Given the description of an element on the screen output the (x, y) to click on. 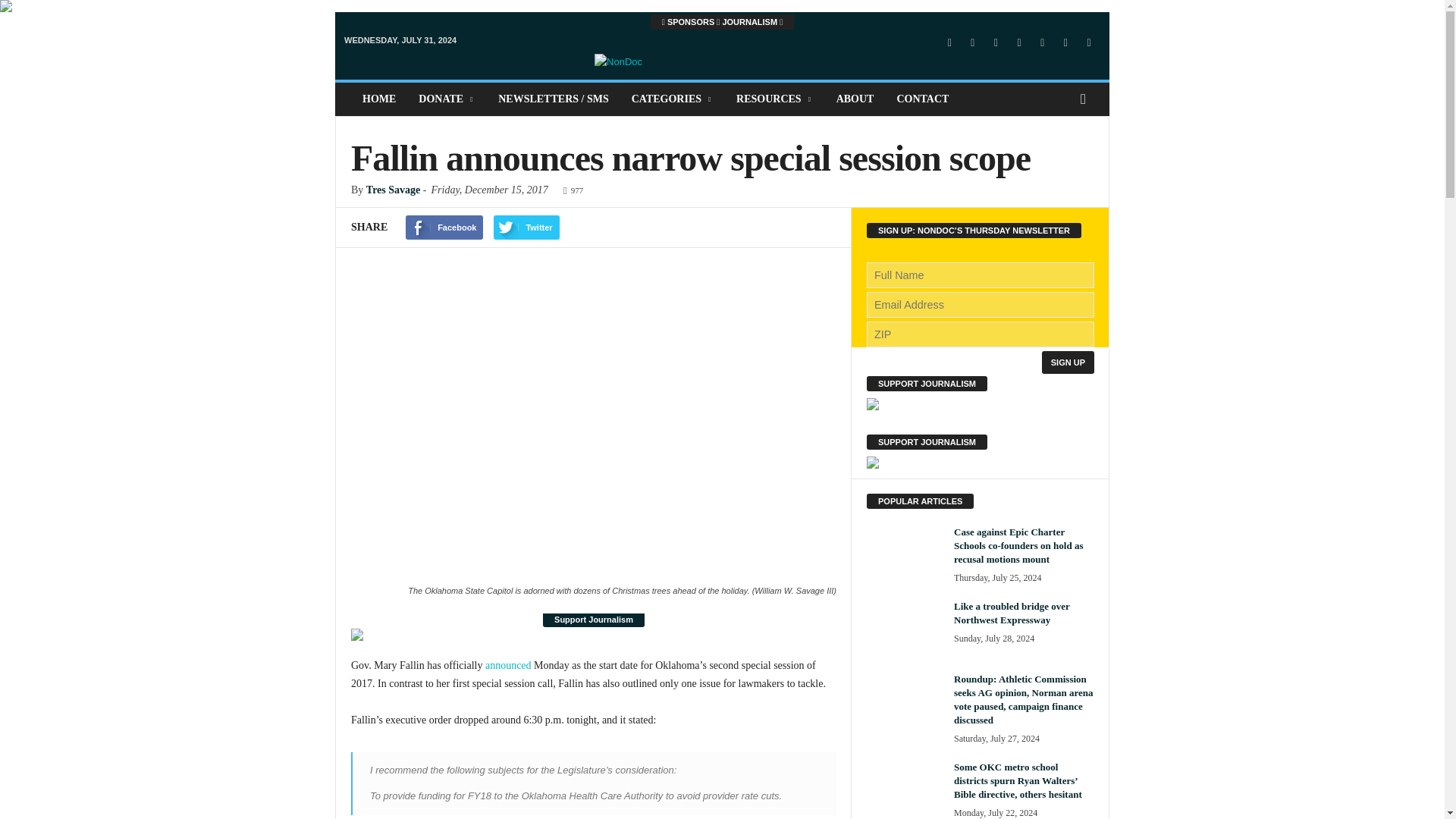
Community journalism with context (722, 66)
Sign Up (1068, 362)
